Given the description of an element on the screen output the (x, y) to click on. 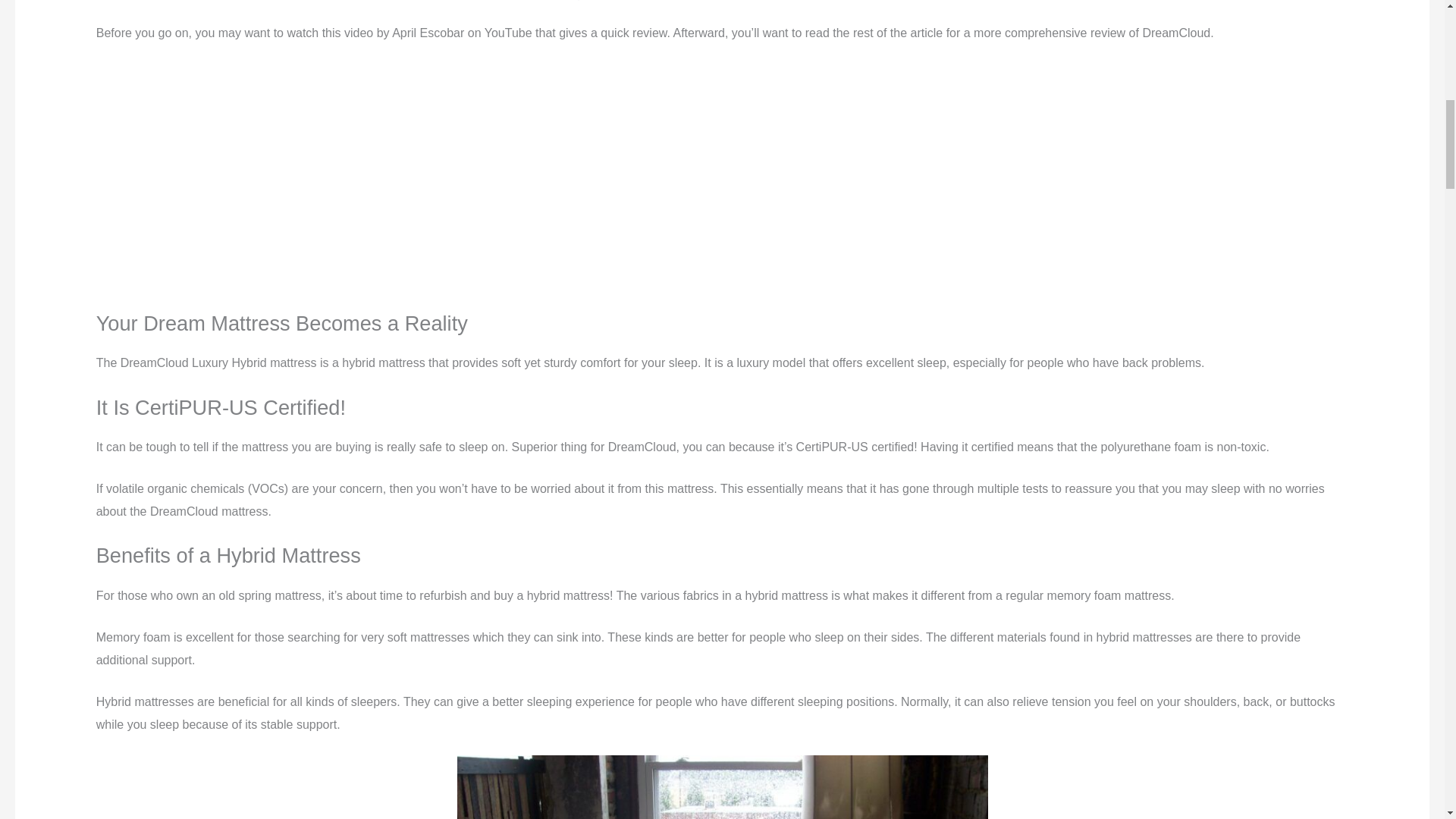
YouTube video player (308, 164)
